Given the description of an element on the screen output the (x, y) to click on. 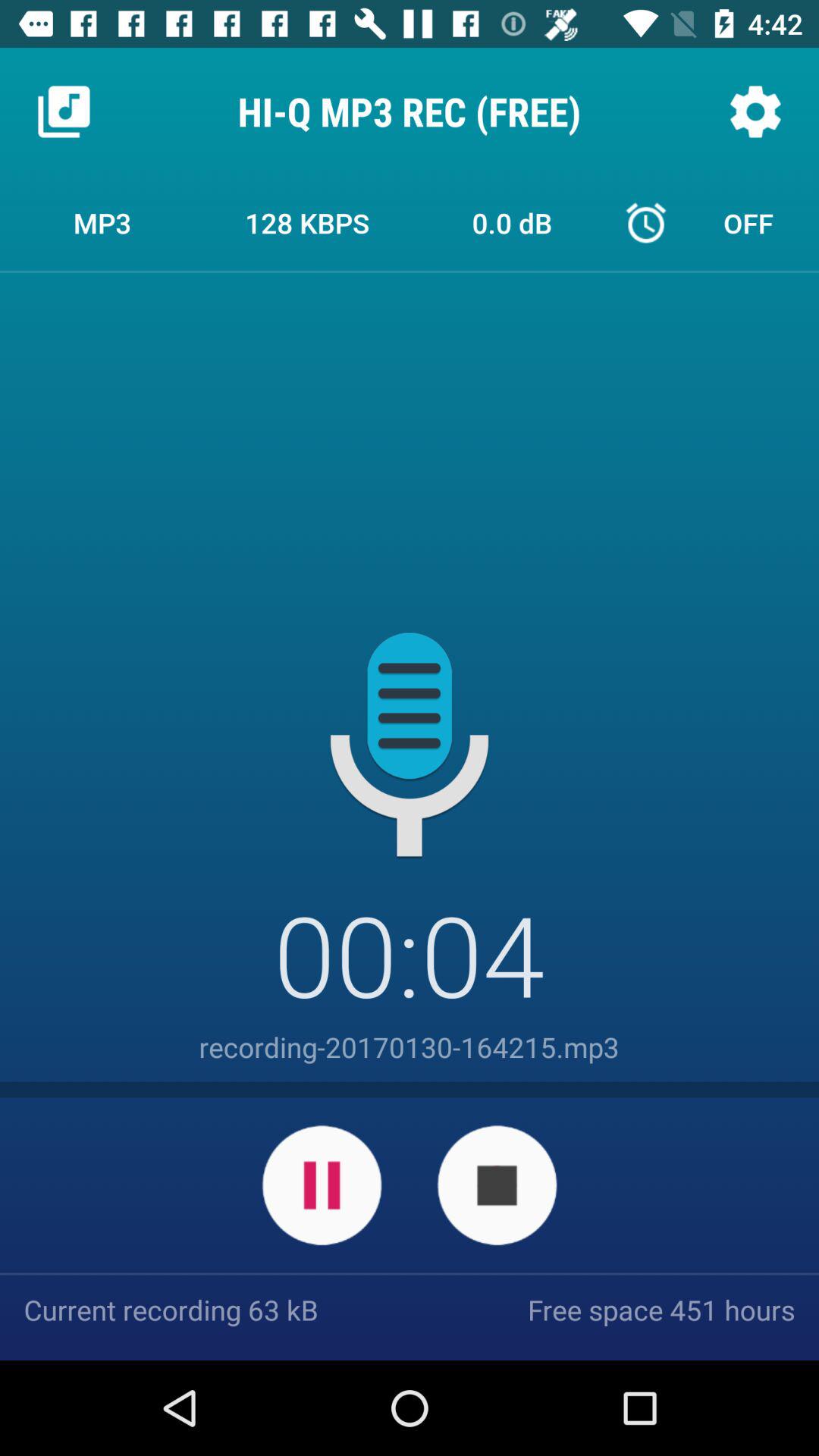
turn on the icon to the right of the hi q mp3 item (755, 111)
